Given the description of an element on the screen output the (x, y) to click on. 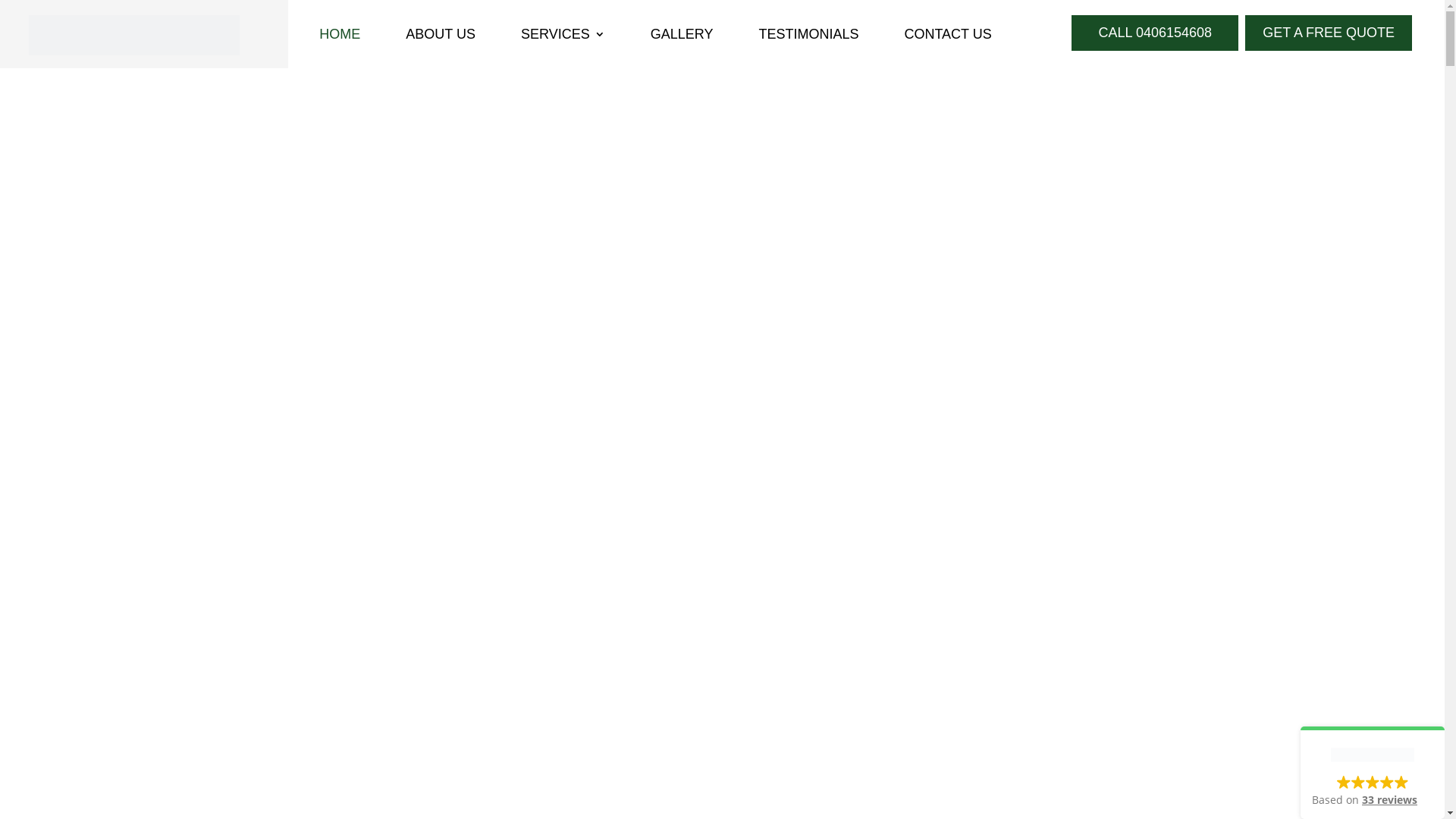
ABOUT US Element type: text (440, 36)
SERVICES Element type: text (562, 36)
GET A FREE QUOTE Element type: text (1328, 32)
CONTACT US Element type: text (947, 36)
CALL 0406154608 Element type: text (1154, 32)
HOME Element type: text (339, 36)
TESTIMONIALS Element type: text (808, 36)
GALLERY Element type: text (681, 36)
